Given the description of an element on the screen output the (x, y) to click on. 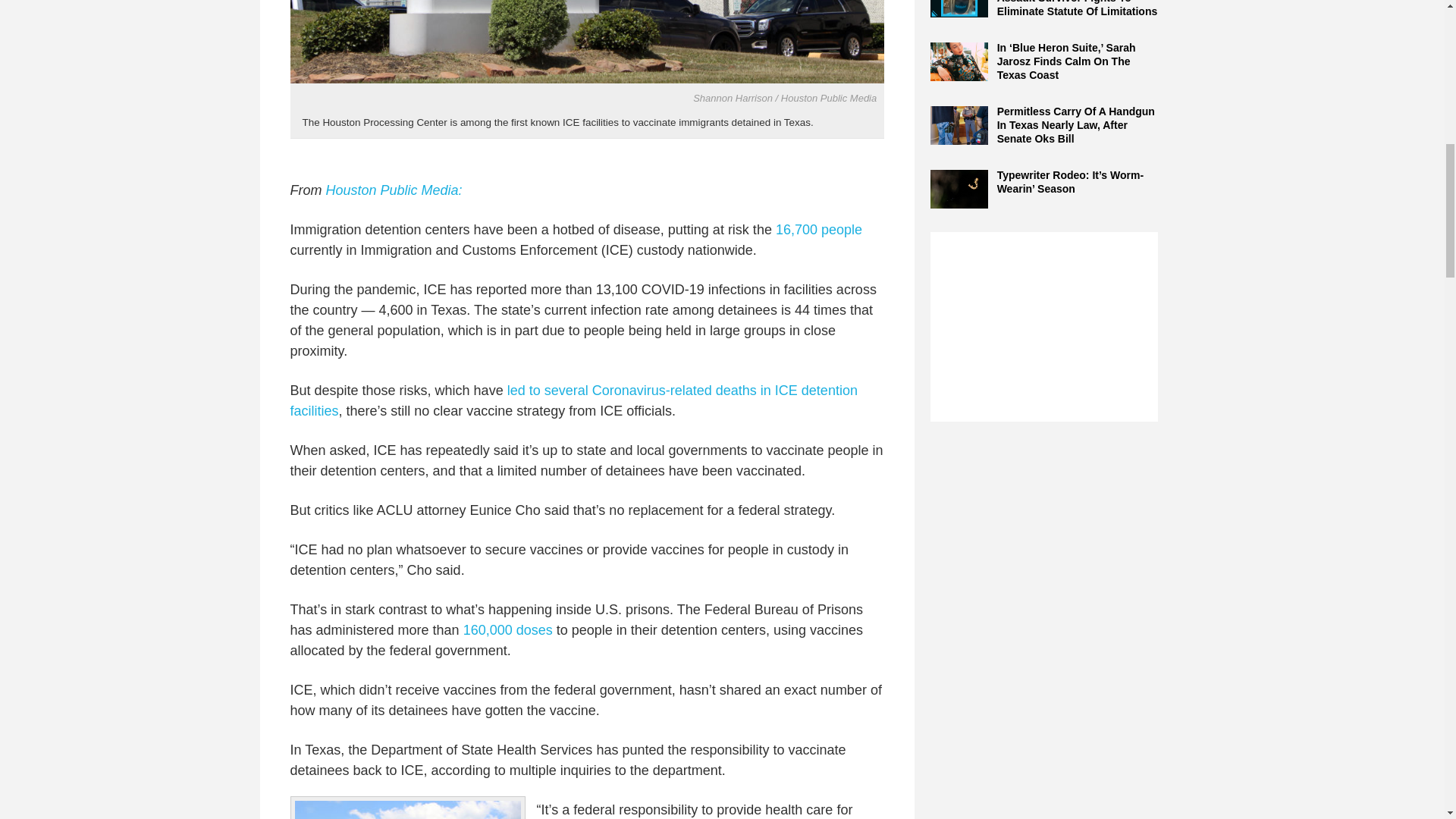
3rd party ad content (1043, 326)
